Given the description of an element on the screen output the (x, y) to click on. 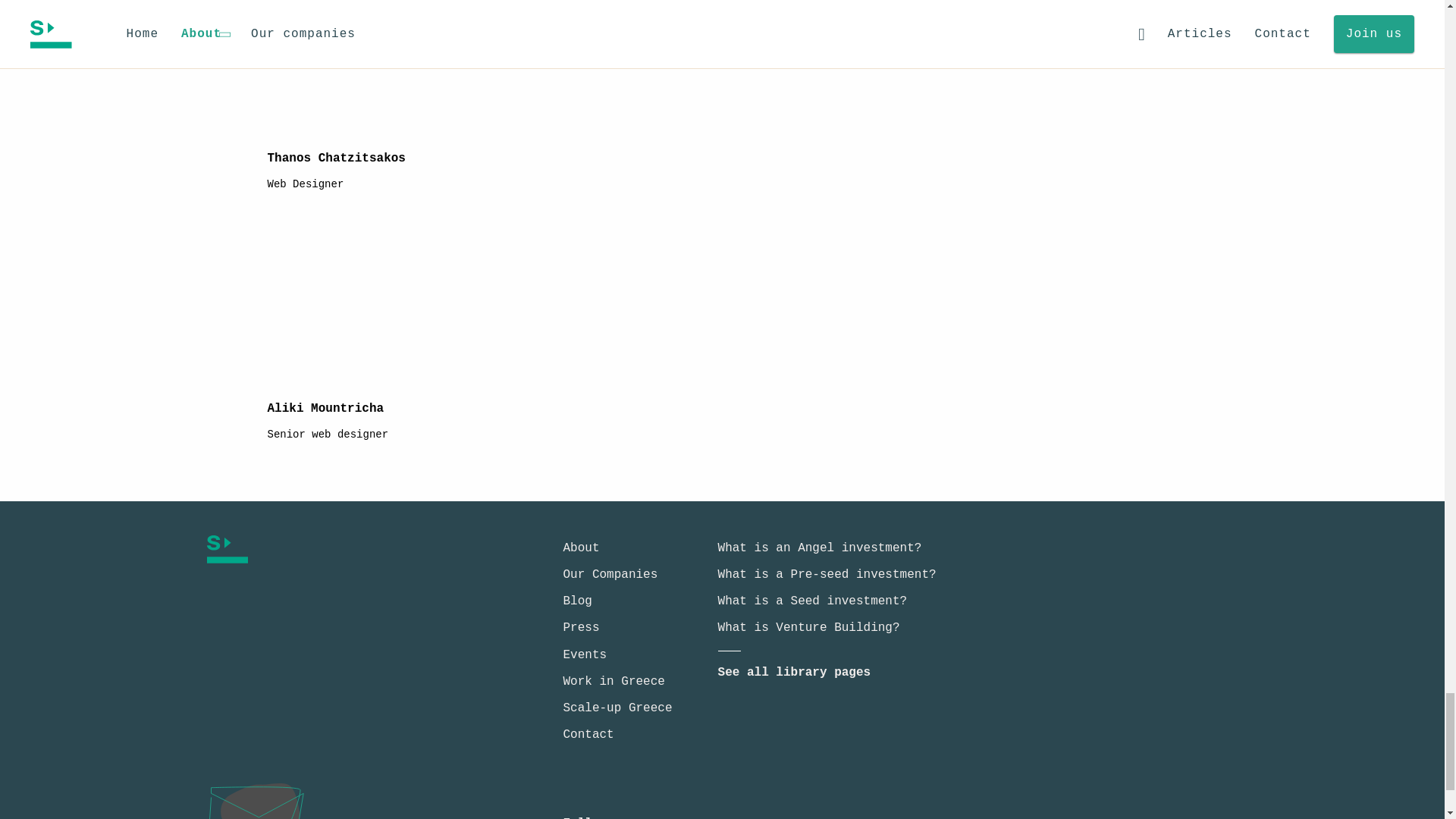
Press (580, 627)
What is Venture Building? (808, 627)
Scale-up Greece (616, 707)
Our Companies (610, 574)
Blog (576, 601)
What is an Angel investment? (819, 548)
What is a Seed investment? (812, 601)
Starttech Ventures (341, 549)
See all library pages (793, 672)
Contact (587, 735)
